Given the description of an element on the screen output the (x, y) to click on. 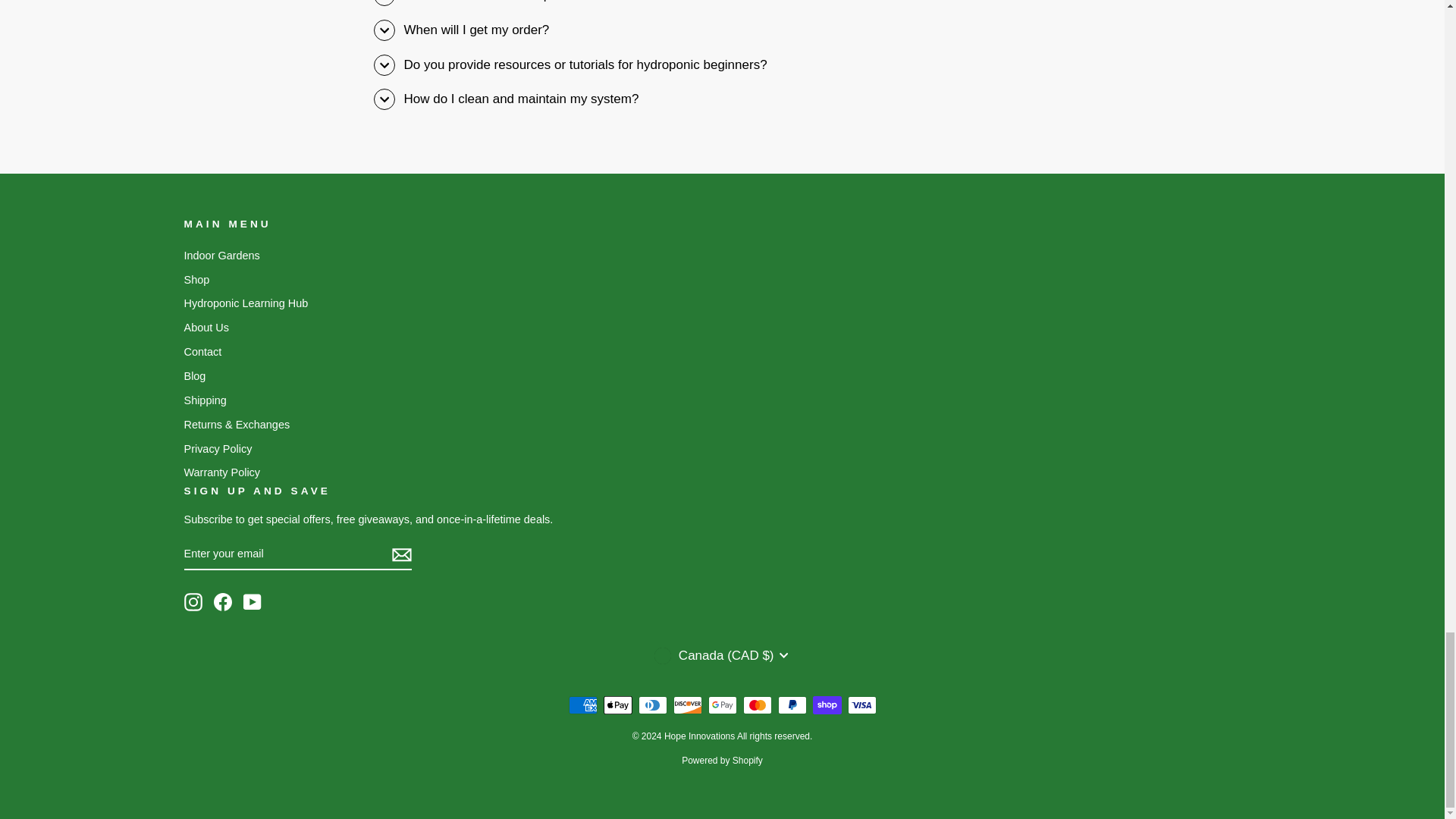
Hope Innovations on YouTube (251, 601)
Hope Innovations on Instagram (192, 601)
instagram (192, 601)
icon-email (400, 554)
Apple Pay (617, 705)
Diners Club (652, 705)
American Express (582, 705)
Hope Innovations on Facebook (222, 601)
